Given the description of an element on the screen output the (x, y) to click on. 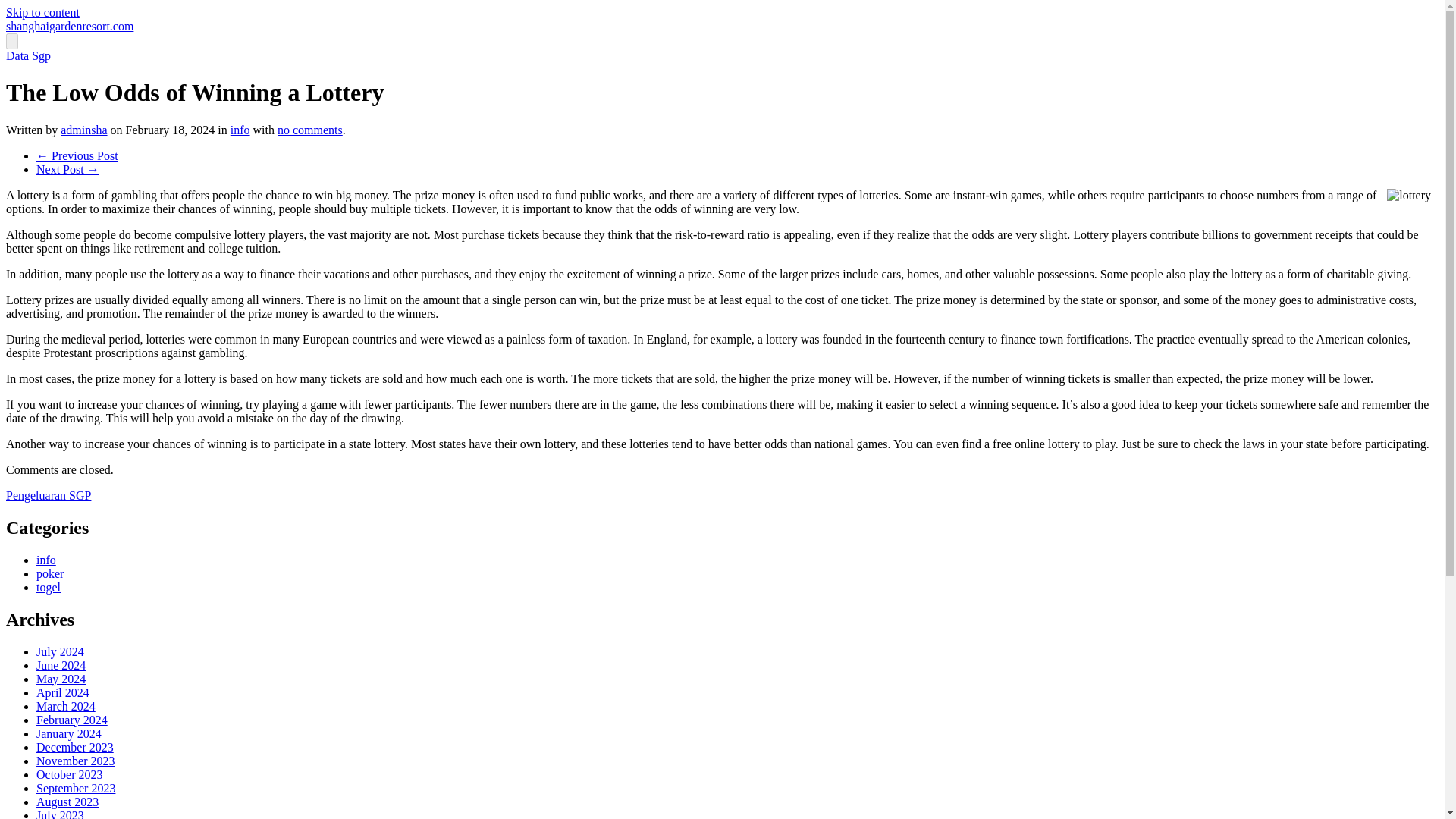
July 2024 (60, 650)
December 2023 (74, 746)
November 2023 (75, 759)
January 2024 (68, 732)
April 2024 (62, 691)
poker (50, 573)
Pengeluaran SGP (47, 495)
Data Sgp (27, 55)
togel (48, 586)
October 2023 (69, 773)
Skip to content (42, 11)
shanghaigardenresort.com (69, 25)
March 2024 (66, 705)
info (240, 129)
May 2024 (60, 677)
